Given the description of an element on the screen output the (x, y) to click on. 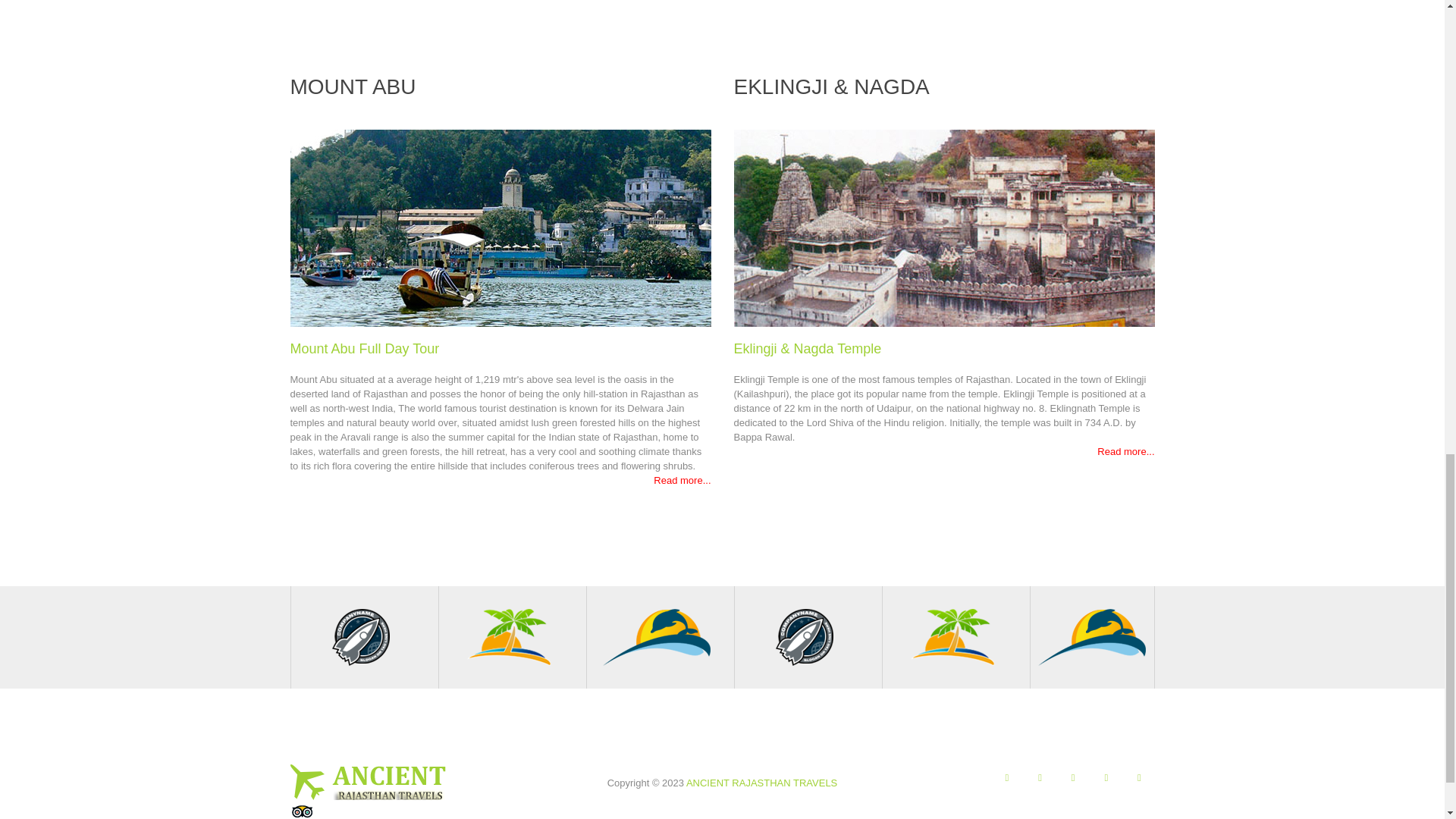
about us (499, 227)
Read more... (1125, 451)
Read more... (681, 480)
company (943, 227)
ANCIENT RAJASTHAN TRAVELS (761, 782)
